Given the description of an element on the screen output the (x, y) to click on. 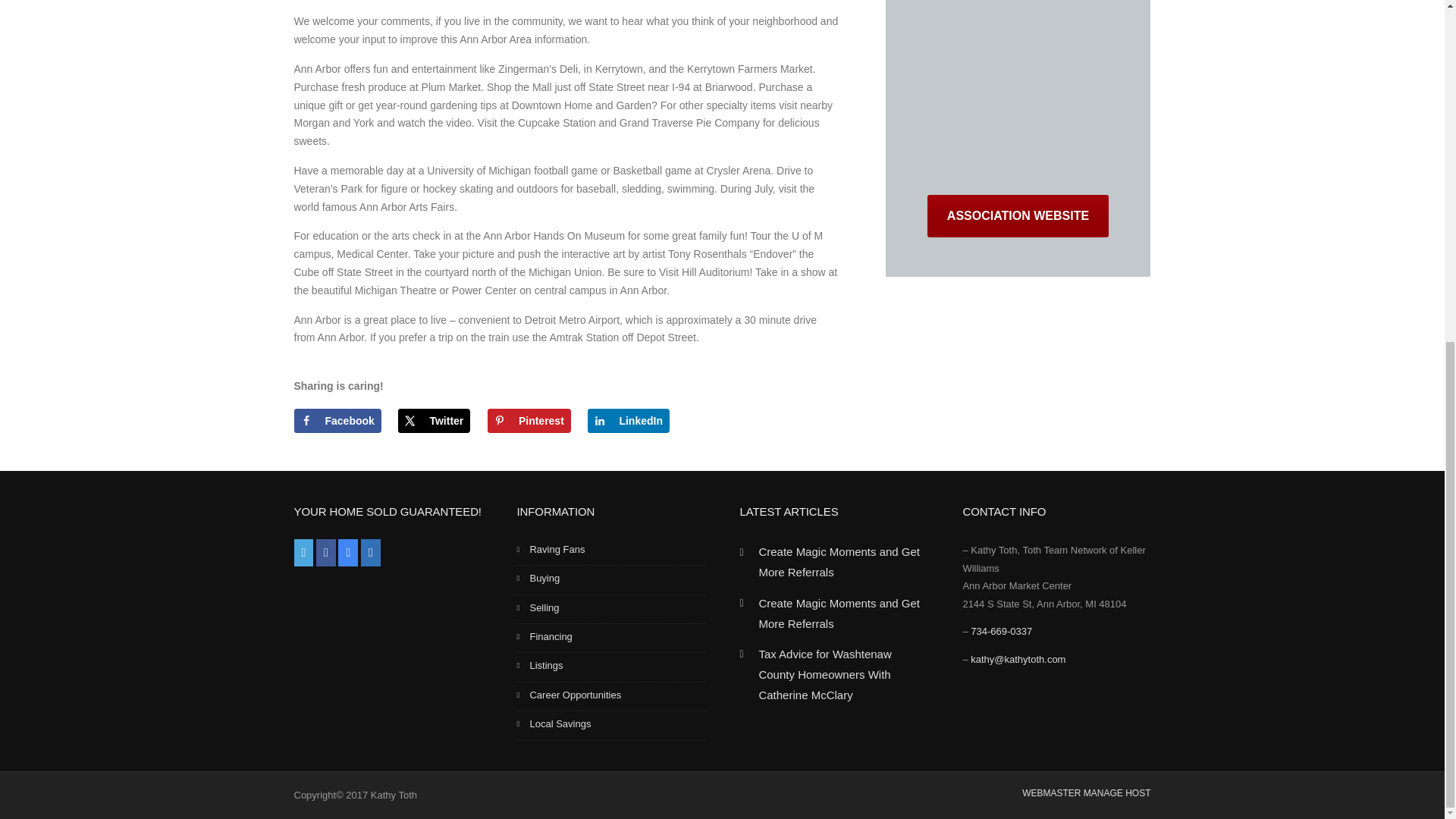
Save to Pinterest (528, 420)
Share on X (433, 420)
Share on Facebook (337, 420)
Share on LinkedIn (628, 420)
